Given the description of an element on the screen output the (x, y) to click on. 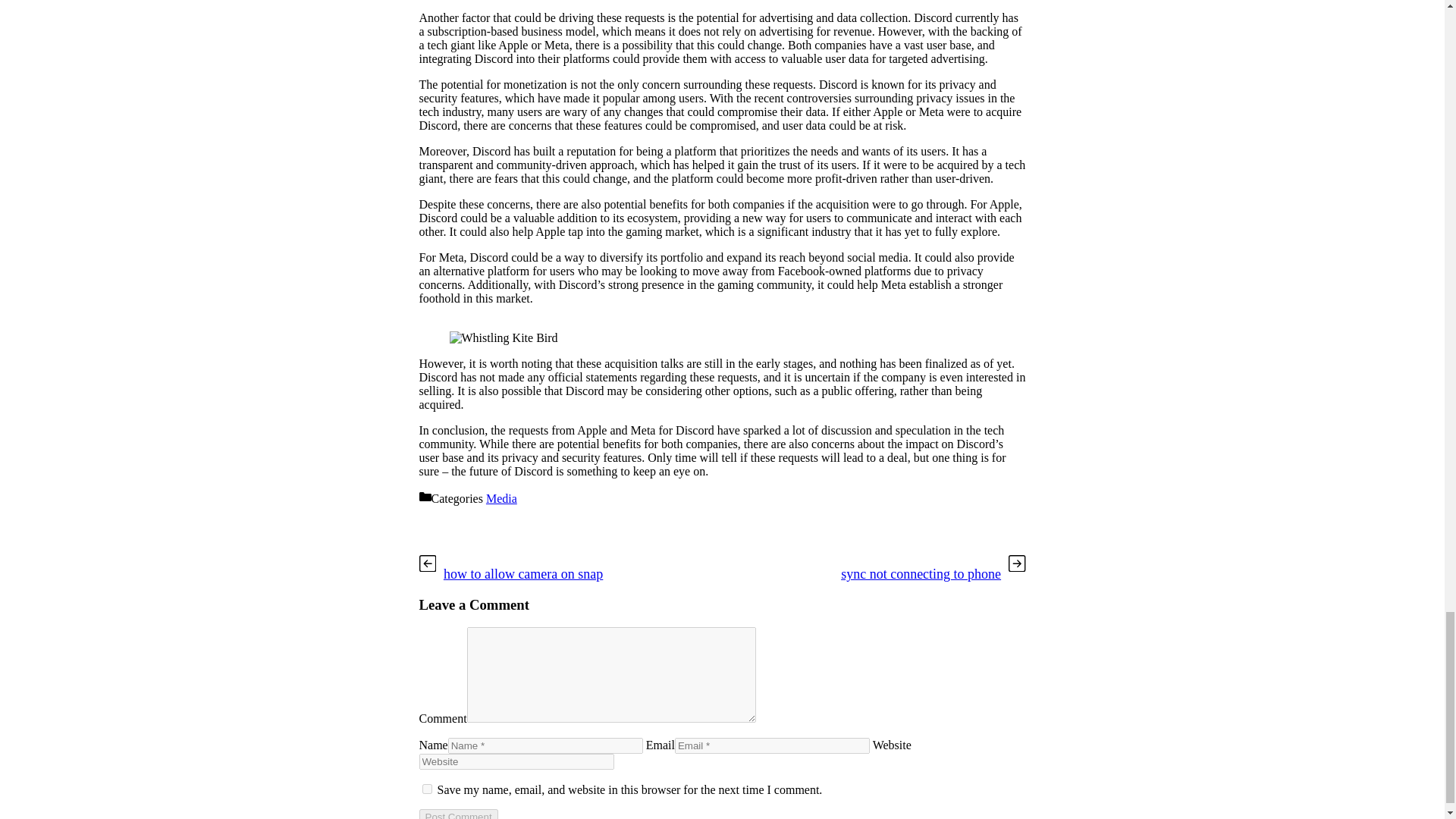
how to allow camera on snap (523, 573)
yes (426, 788)
sync not connecting to phone (921, 573)
Whistling Kite Bird (502, 337)
Media (501, 498)
